Given the description of an element on the screen output the (x, y) to click on. 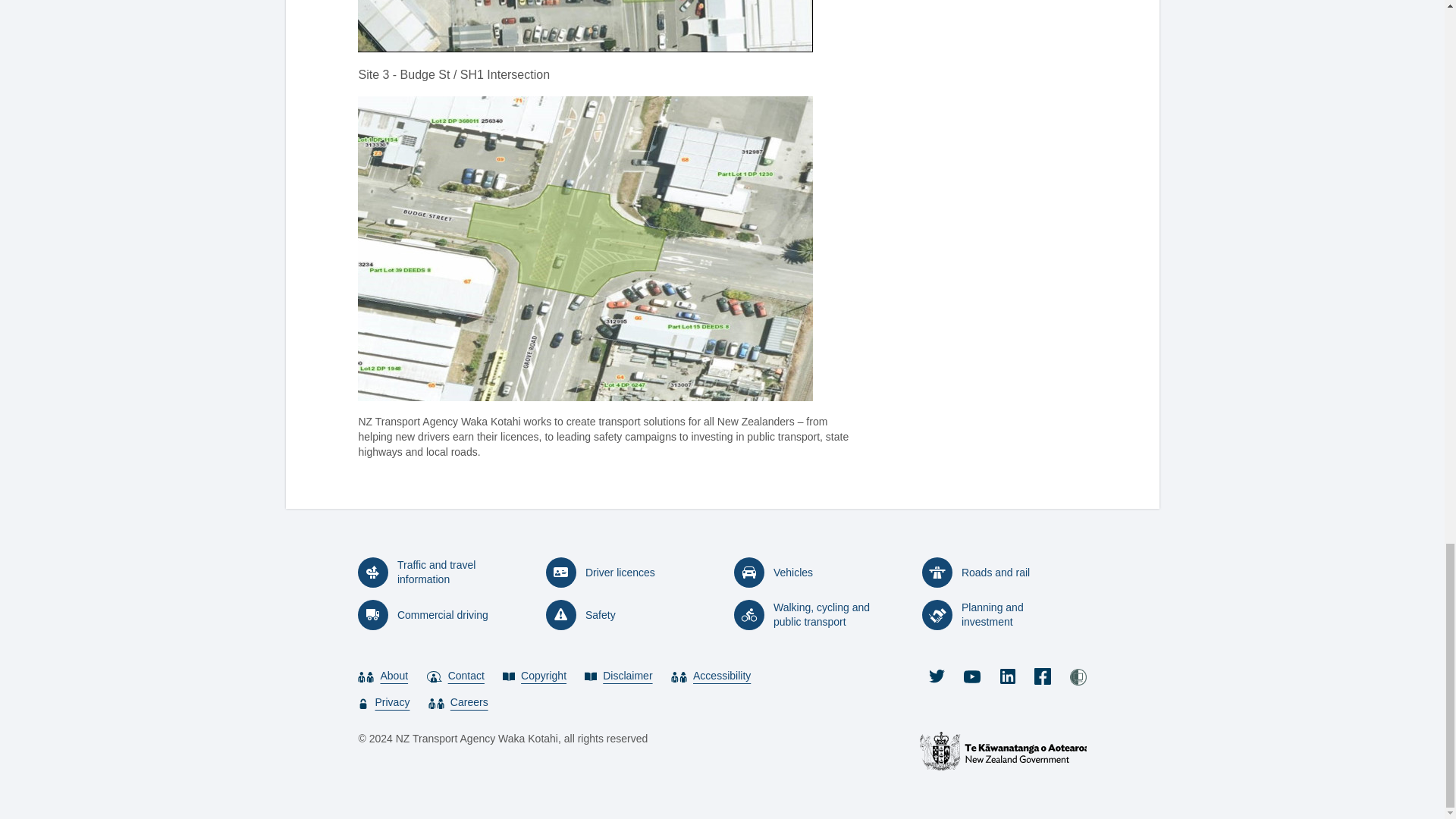
20221118 Blenheim site 2 (585, 26)
